Given the description of an element on the screen output the (x, y) to click on. 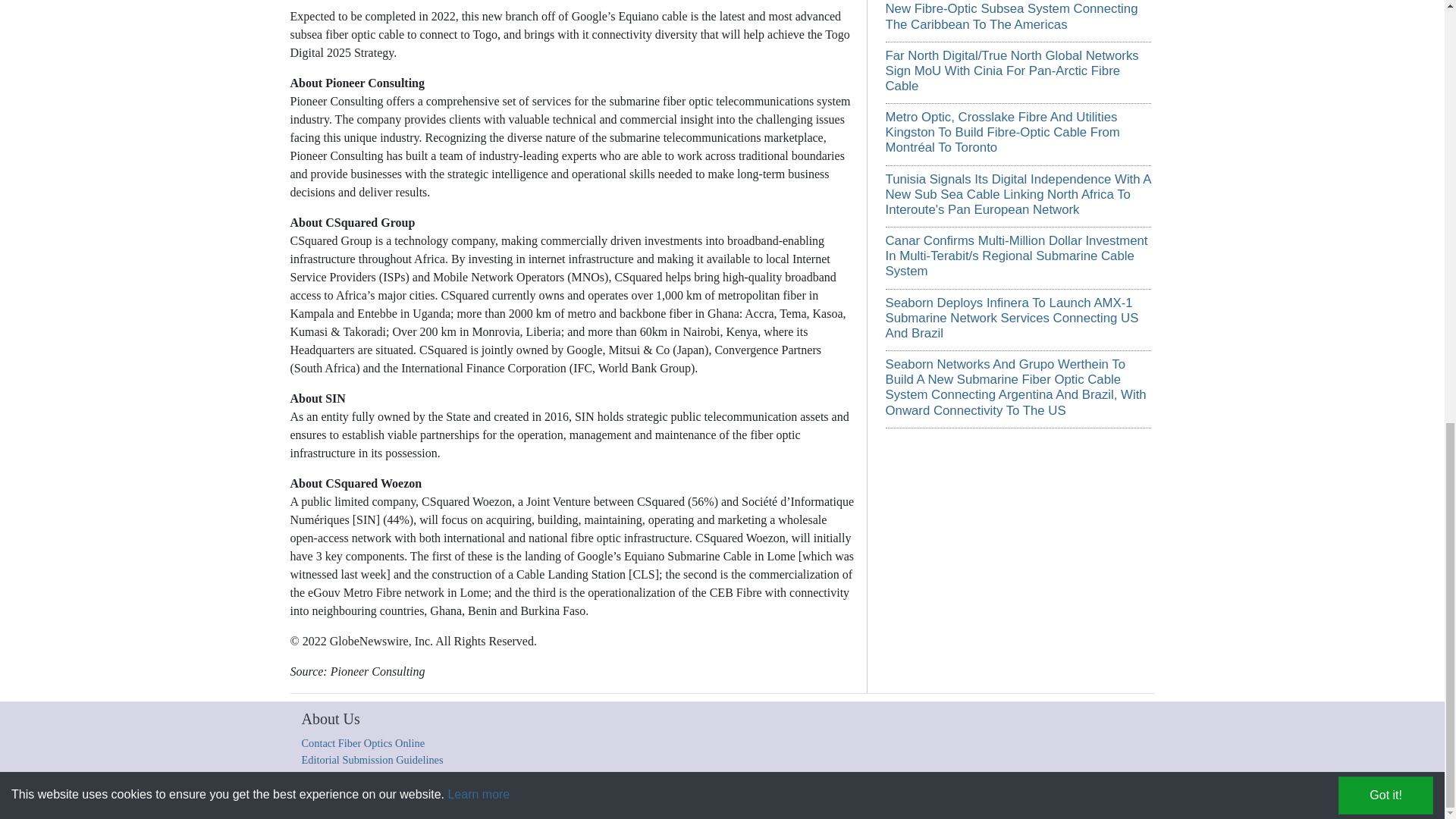
Privacy Statement (770, 798)
Copyright (453, 798)
Subscriber Request Form (858, 798)
Contact Fiber Optics Online (363, 743)
VertMarkets, Inc. (561, 798)
Don't sell my information (960, 798)
Terms of Use (704, 798)
Editorial Submission Guidelines (372, 759)
